Given the description of an element on the screen output the (x, y) to click on. 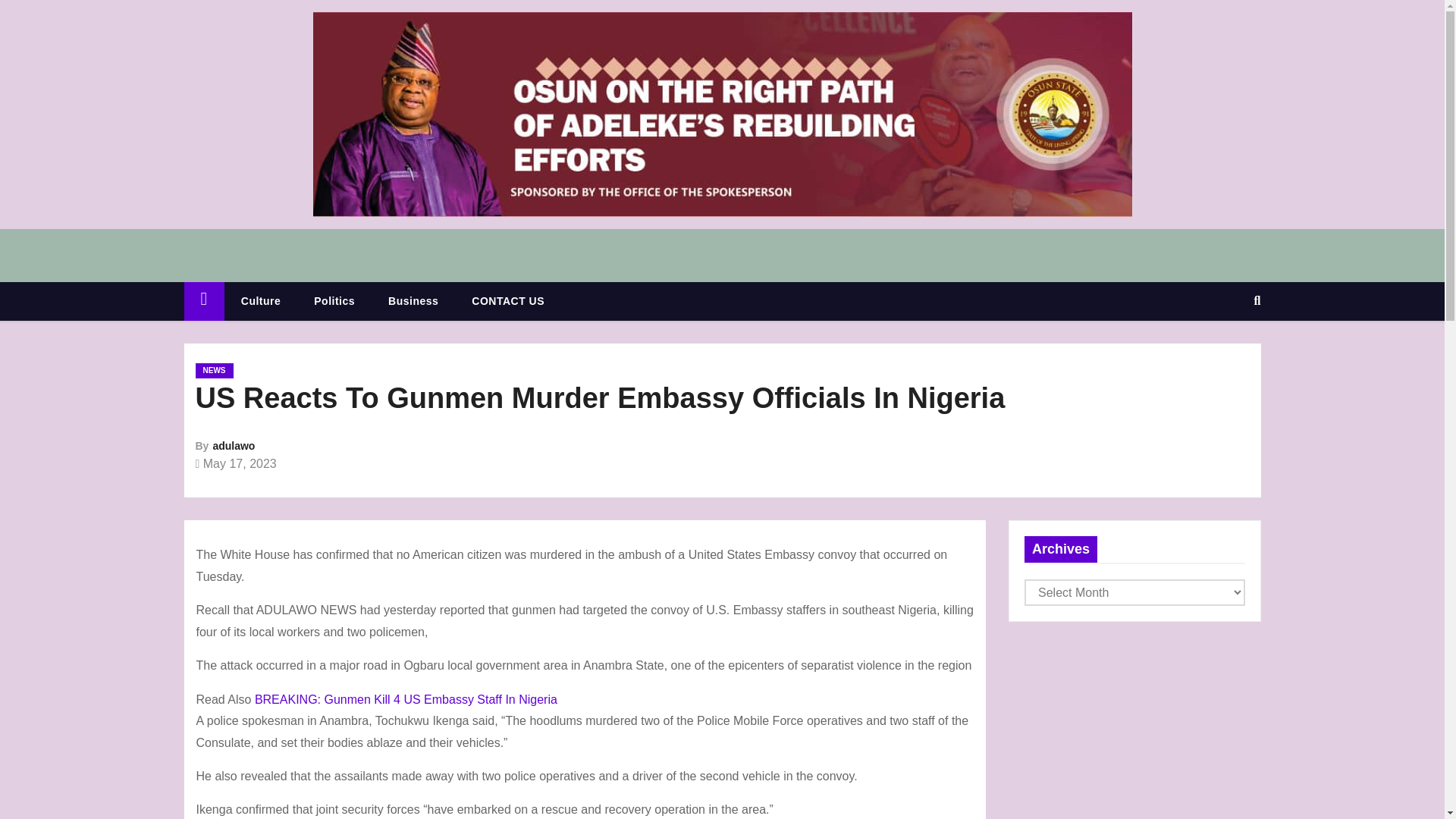
CONTACT US (507, 301)
CONTACT US (507, 301)
Business (412, 301)
BREAKING: Gunmen Kill 4 US Embassy Staff In Nigeria (405, 698)
Politics (334, 301)
Culture (261, 301)
BREAKING: Gunmen Kill 4 US Embassy Staff In Nigeria (405, 698)
Home (203, 301)
adulawo (233, 445)
Politics (334, 301)
NEWS (213, 370)
Business (412, 301)
Culture (261, 301)
